Given the description of an element on the screen output the (x, y) to click on. 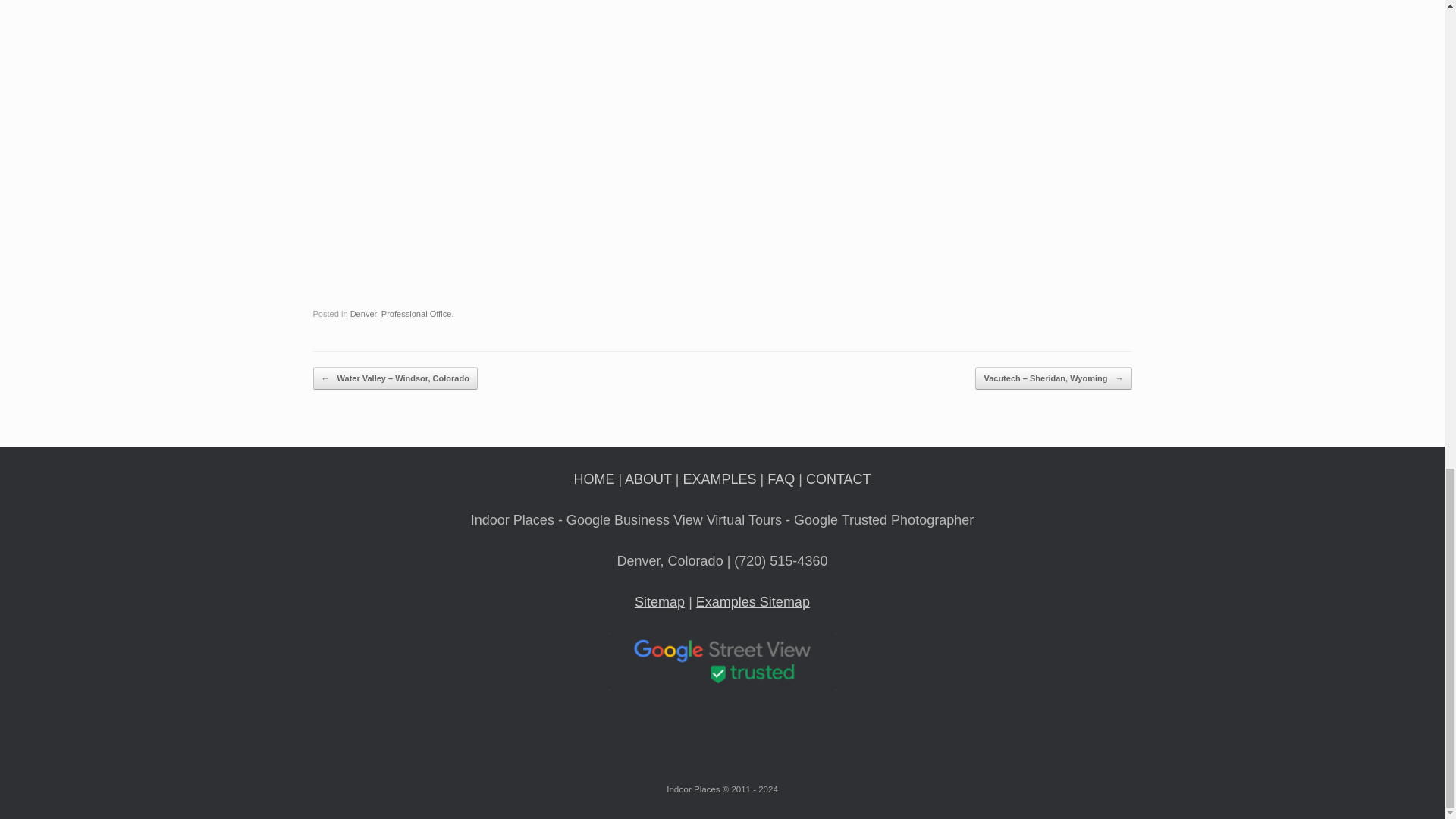
Professional Office (416, 313)
ABOUT (647, 478)
CONTACT (838, 478)
FAQ (780, 478)
EXAMPLES (718, 478)
HOME (593, 478)
Denver (363, 313)
Sitemap (659, 601)
Examples Sitemap (752, 601)
